Given the description of an element on the screen output the (x, y) to click on. 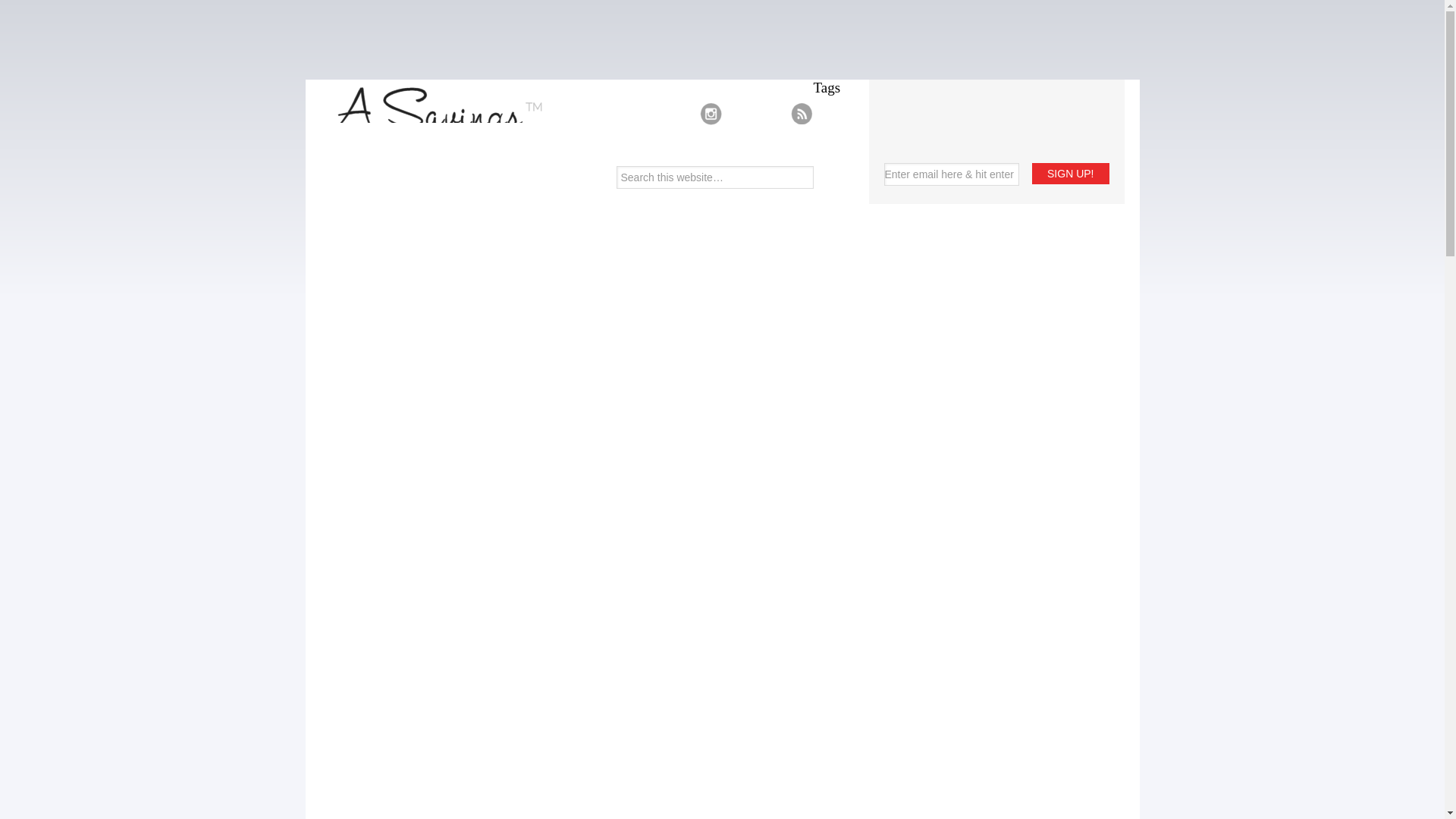
Dominick's (866, 375)
Mission Giveaway (866, 738)
A SAVINGS WOW! (430, 142)
Beverages (866, 204)
Meats (866, 719)
linky (866, 685)
magazines (866, 702)
free (866, 461)
Amazon.com (866, 117)
grocery deals (866, 531)
